Given the description of an element on the screen output the (x, y) to click on. 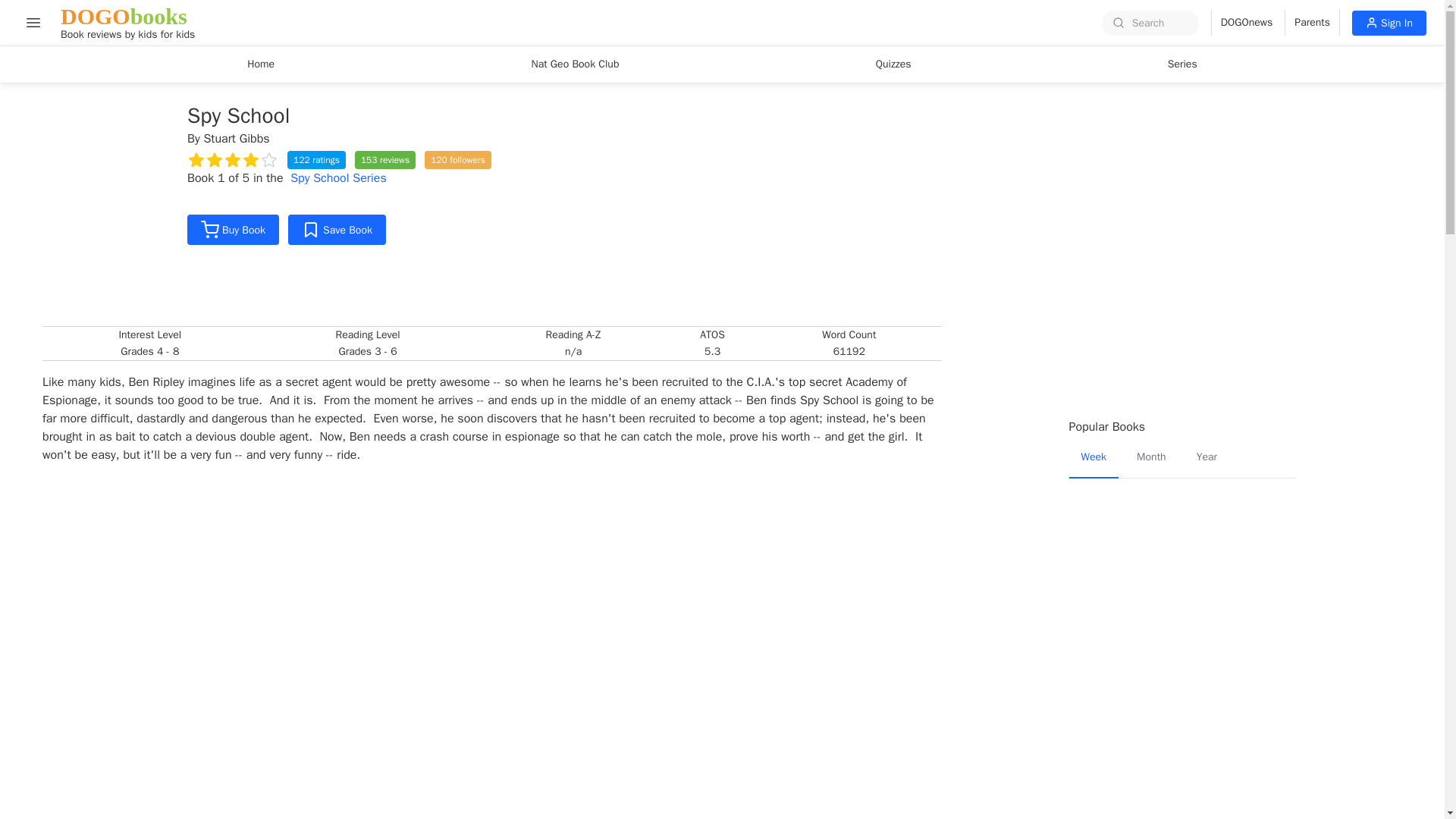
Home (260, 63)
Open main menu (128, 22)
Parents (33, 22)
Series (1311, 22)
Nat Geo Book Club (1182, 63)
Buy Book (574, 63)
DOGOnews (233, 229)
Spy School Series (1241, 22)
Sign In (338, 177)
